Given the description of an element on the screen output the (x, y) to click on. 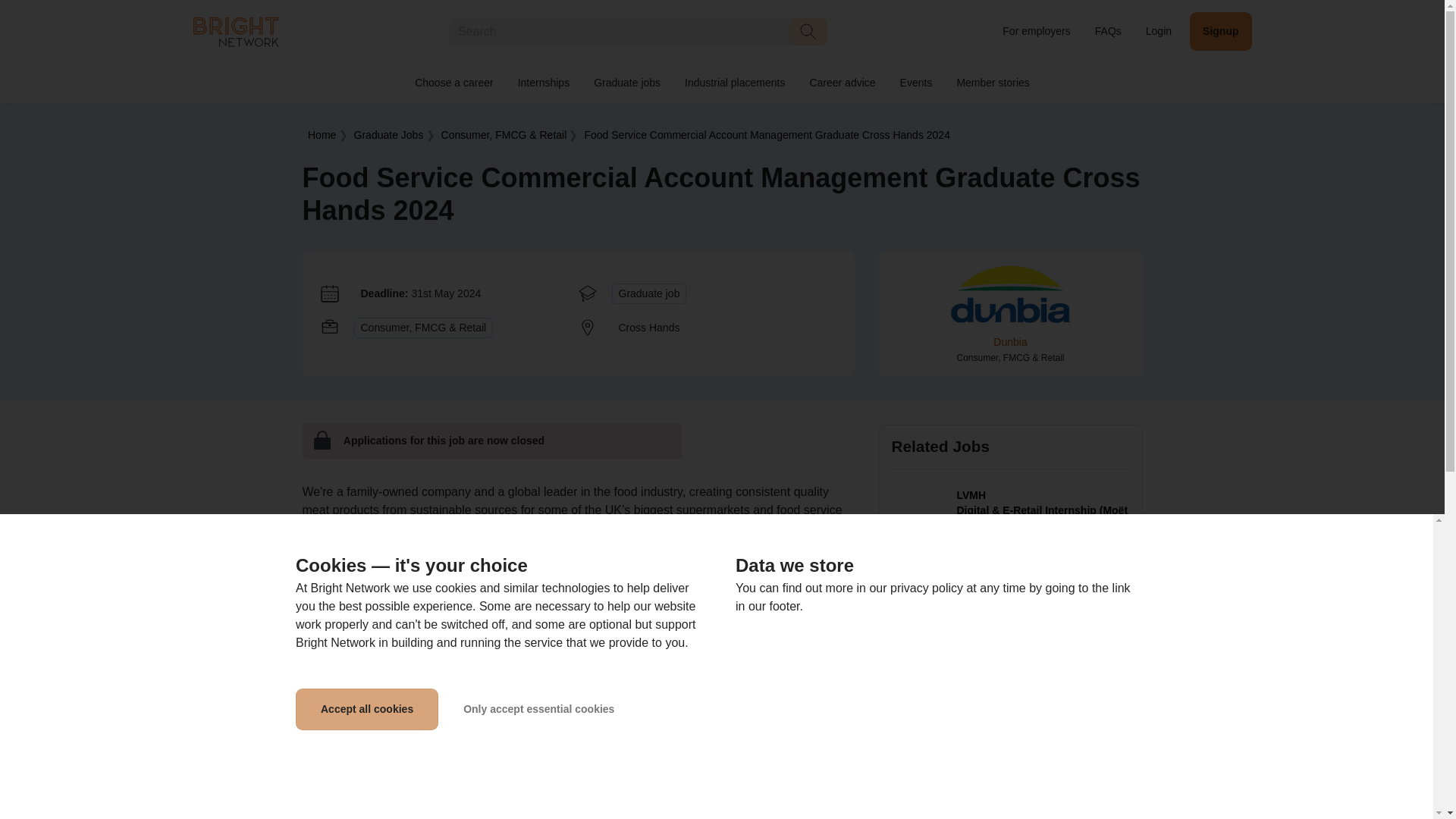
Choose a career (454, 83)
Events (916, 83)
Home (235, 30)
Food (766, 134)
Home (321, 134)
Industrial placements (734, 83)
Graduate jobs (626, 83)
Career advice (841, 83)
Internships (542, 83)
Graduate (388, 134)
